Given the description of an element on the screen output the (x, y) to click on. 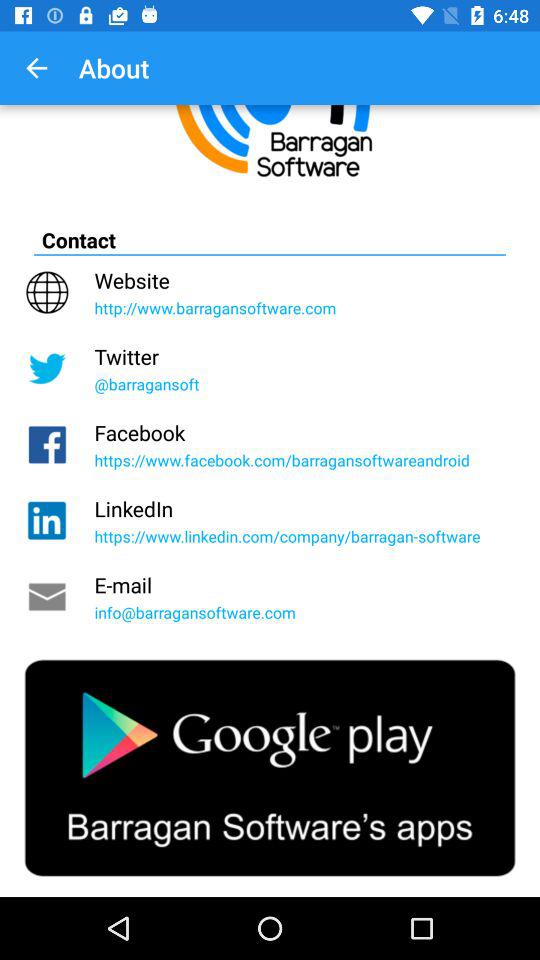
select icon above the contact (36, 68)
